Given the description of an element on the screen output the (x, y) to click on. 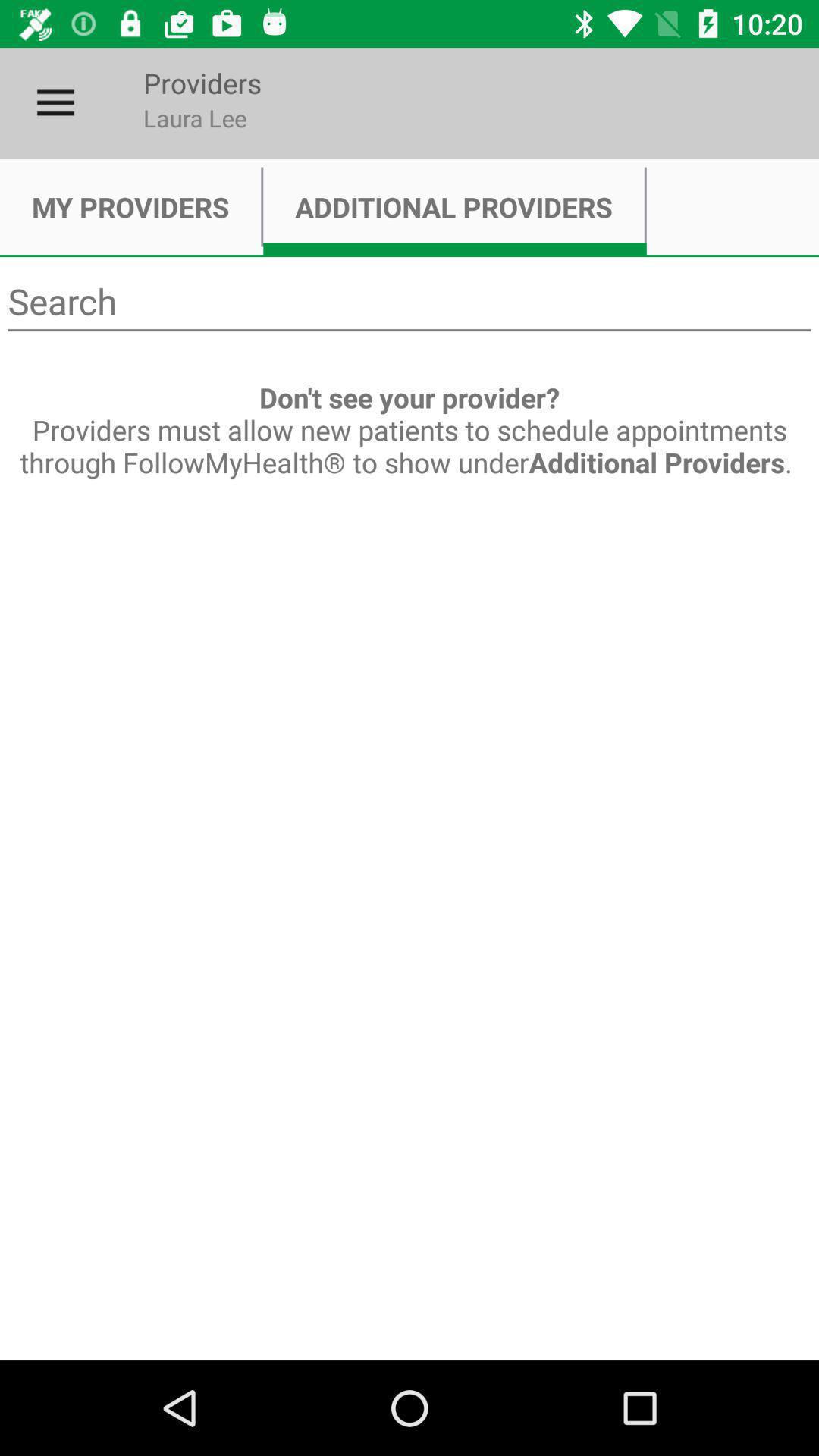
search (409, 301)
